Given the description of an element on the screen output the (x, y) to click on. 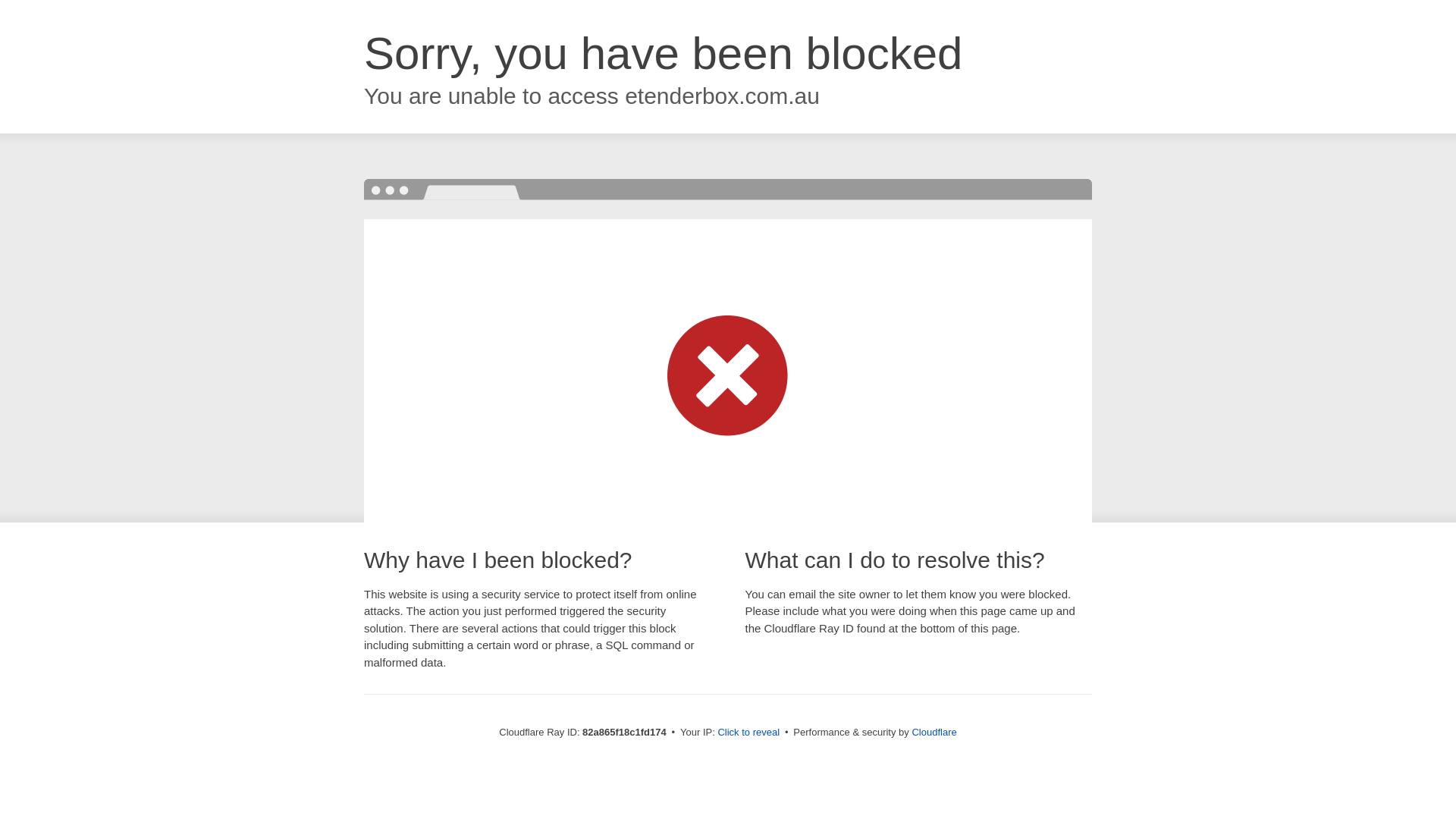
Cloudflare Element type: text (933, 731)
Click to reveal Element type: text (748, 732)
